Given the description of an element on the screen output the (x, y) to click on. 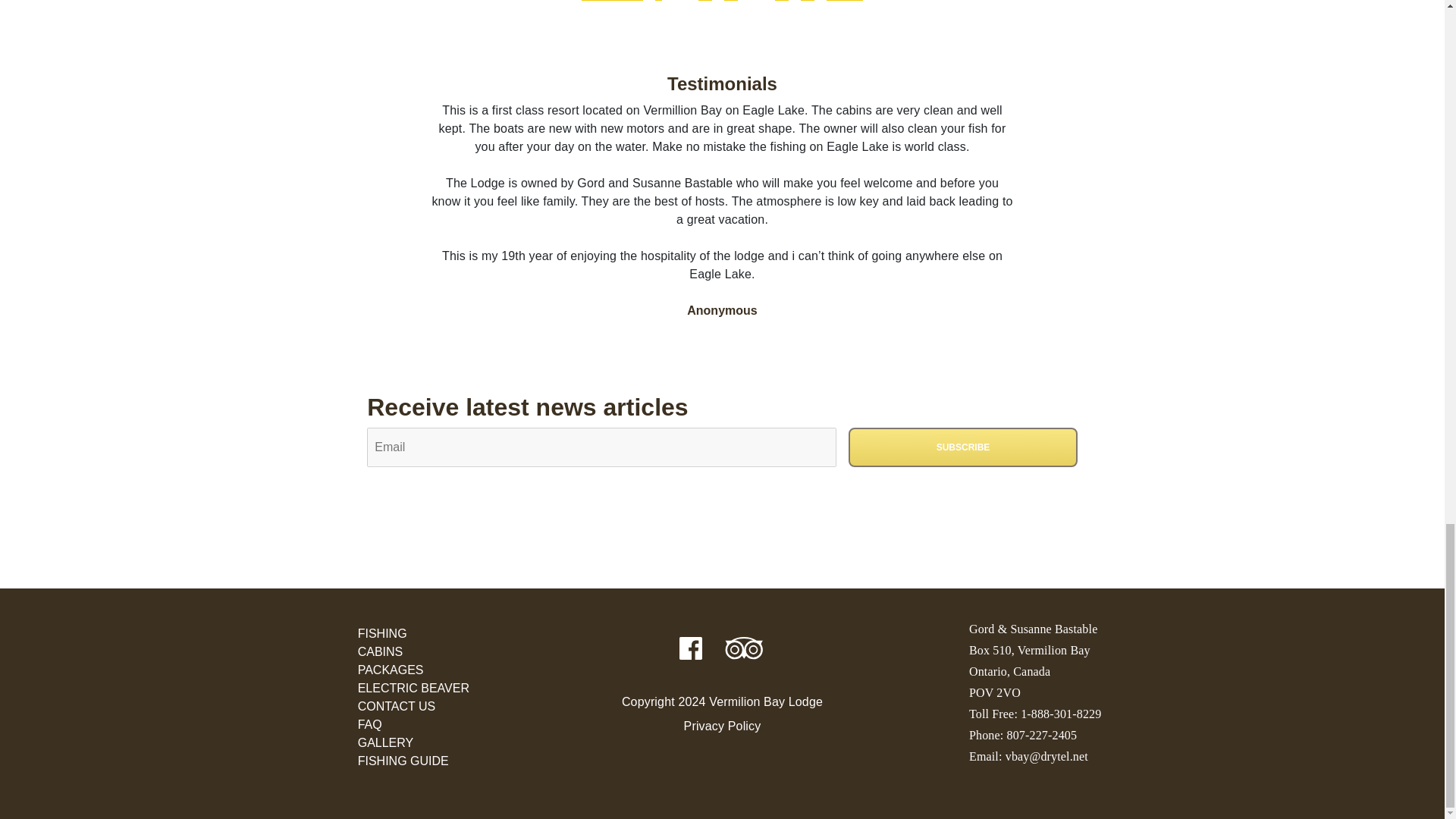
FAQ (413, 724)
Subscribe (962, 446)
GALLERY (413, 742)
FAQ (413, 724)
ELECTRIC BEAVER (413, 688)
FISHING (413, 633)
Gallery (413, 742)
Subscribe (962, 446)
FISHING GUIDE (413, 761)
Fishing Guide (413, 761)
Contact Us (413, 706)
